Given the description of an element on the screen output the (x, y) to click on. 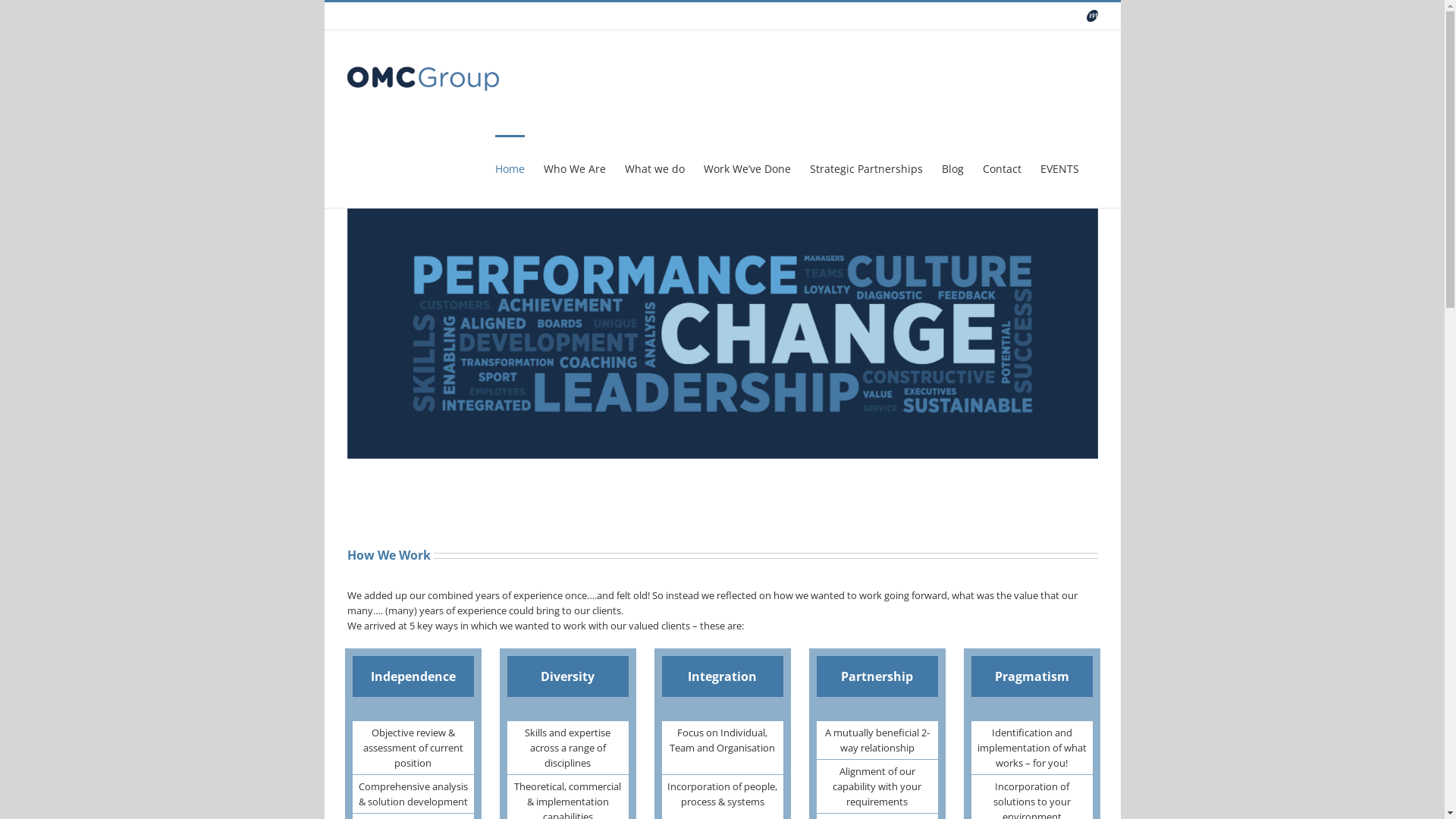
Who We Are Element type: text (573, 167)
Contact Element type: text (1001, 167)
OMC Group Element type: text (1092, 15)
What we do Element type: text (654, 167)
Home Element type: text (509, 167)
EVENTS Element type: text (1059, 167)
Strategic Partnerships Element type: text (865, 167)
Blog Element type: text (952, 167)
